Given the description of an element on the screen output the (x, y) to click on. 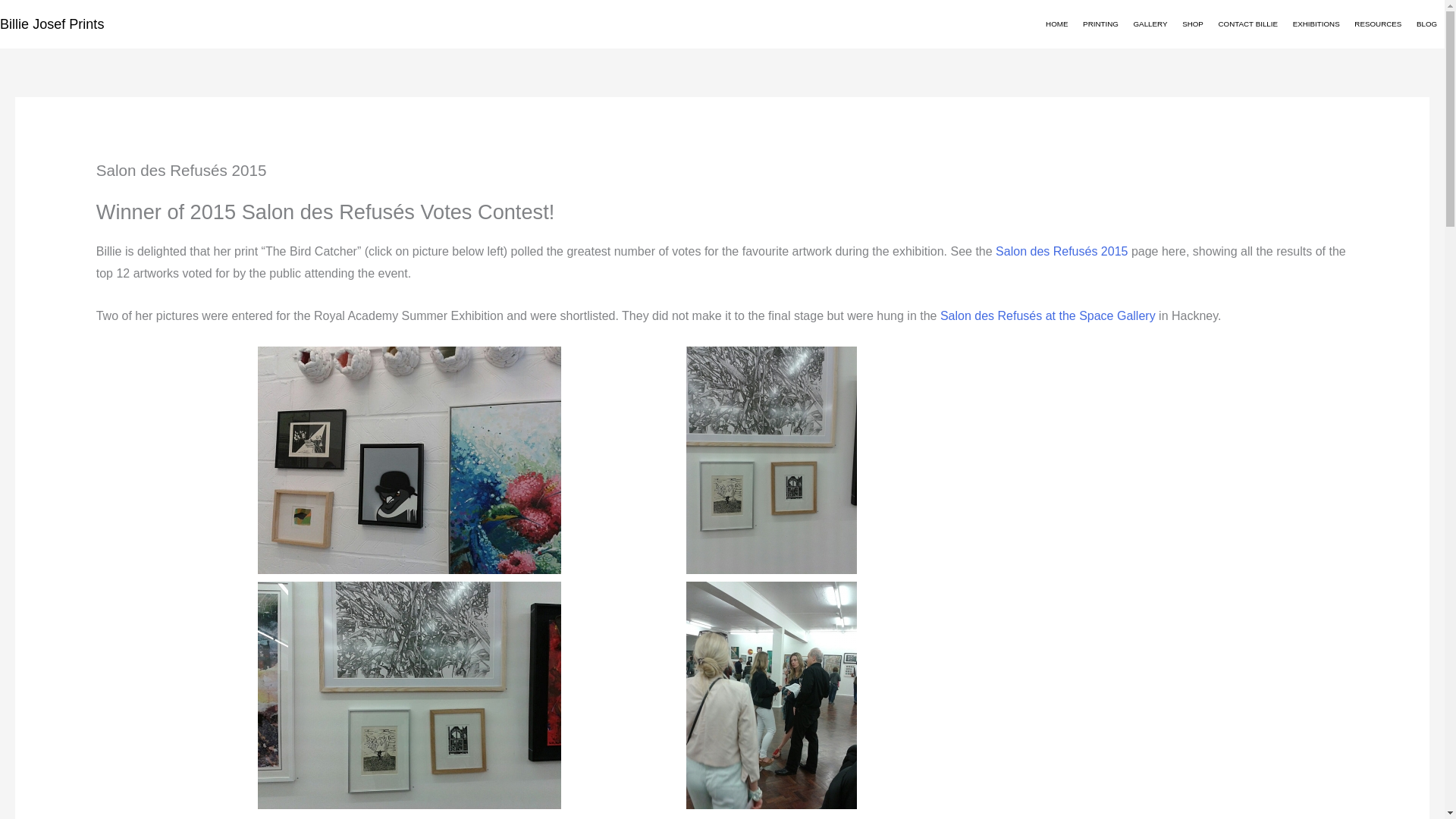
CONTACT BILLIE (1248, 24)
RESOURCES (1378, 24)
PRINTING (1100, 24)
GALLERY (1149, 24)
Billie Josef Prints (51, 23)
Salon de Refuses 2015 1 (408, 460)
EXHIBITIONS (1316, 24)
Salon de Refuses 2015 3 (408, 695)
